Given the description of an element on the screen output the (x, y) to click on. 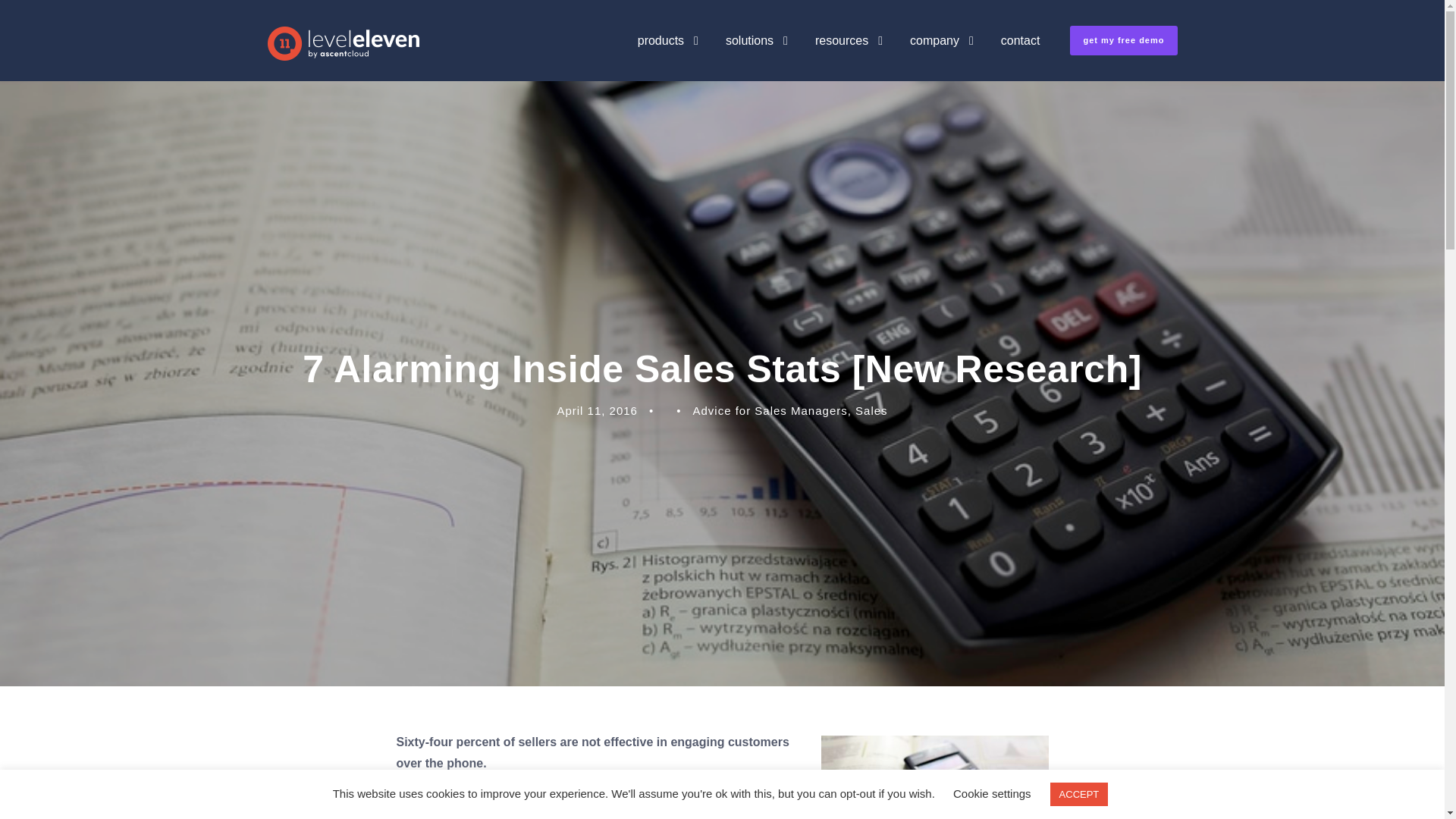
L11-logo-horizontal (342, 43)
April 11, 2016 (596, 410)
Sales (872, 410)
resources (848, 55)
products (667, 55)
get my free demo (1123, 40)
Advice for Sales Managers (770, 410)
solutions (756, 55)
company (942, 55)
